Given the description of an element on the screen output the (x, y) to click on. 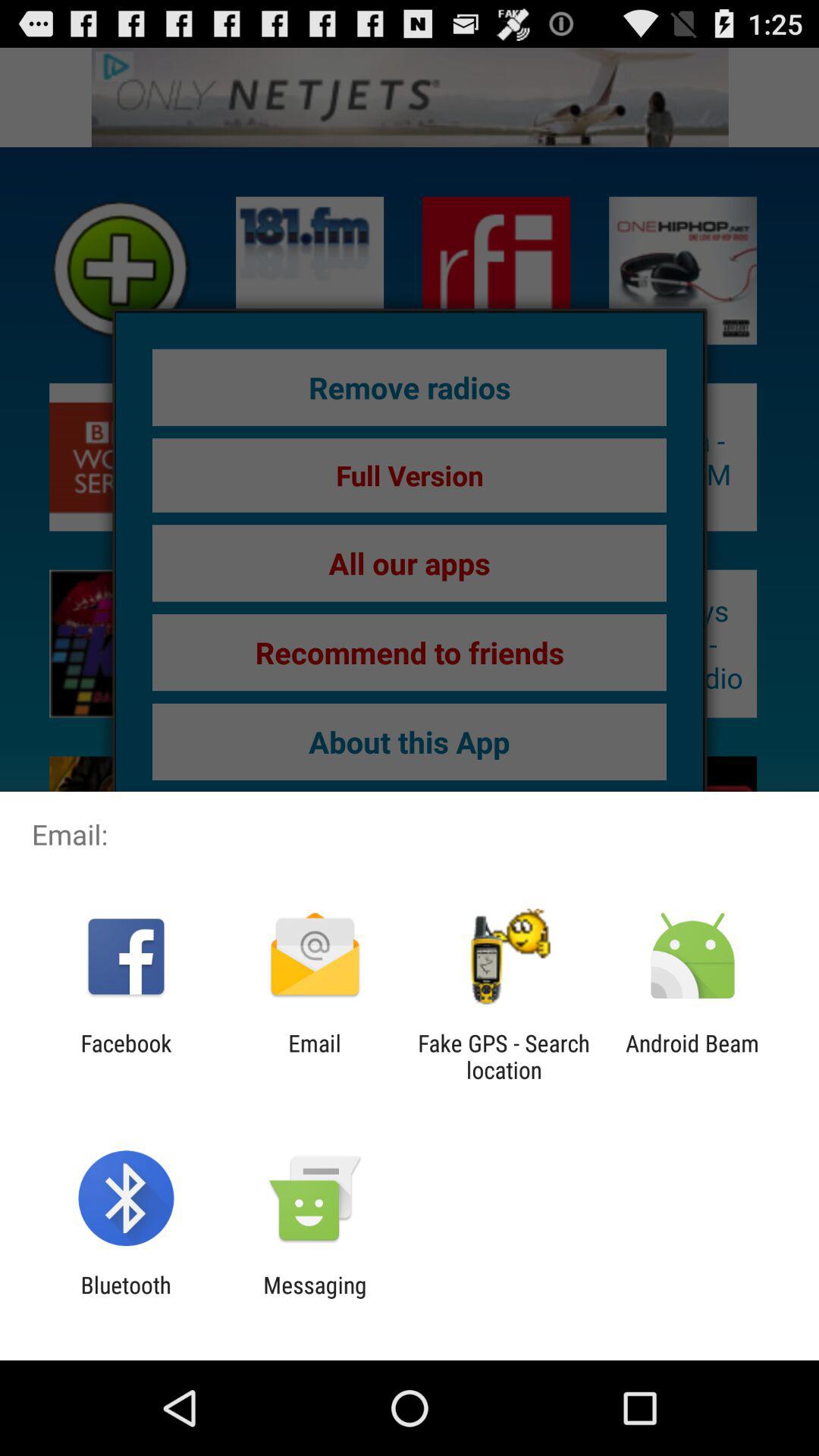
choose the icon next to email app (125, 1056)
